Given the description of an element on the screen output the (x, y) to click on. 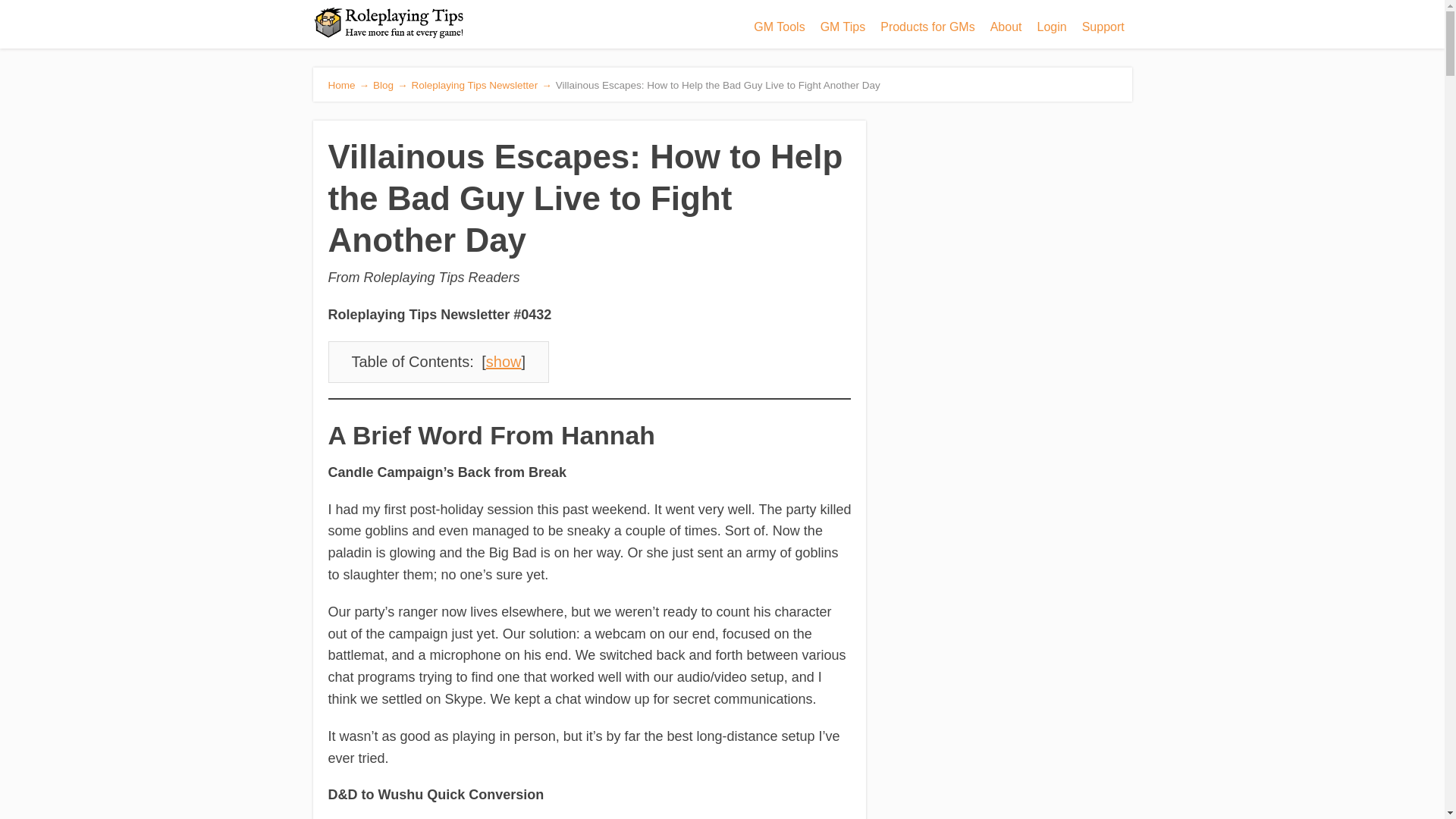
GM Tools (778, 27)
Login (1051, 27)
GM Tips (842, 27)
Support (1103, 27)
About (1005, 27)
Products for GMs (926, 27)
show (503, 361)
